Given the description of an element on the screen output the (x, y) to click on. 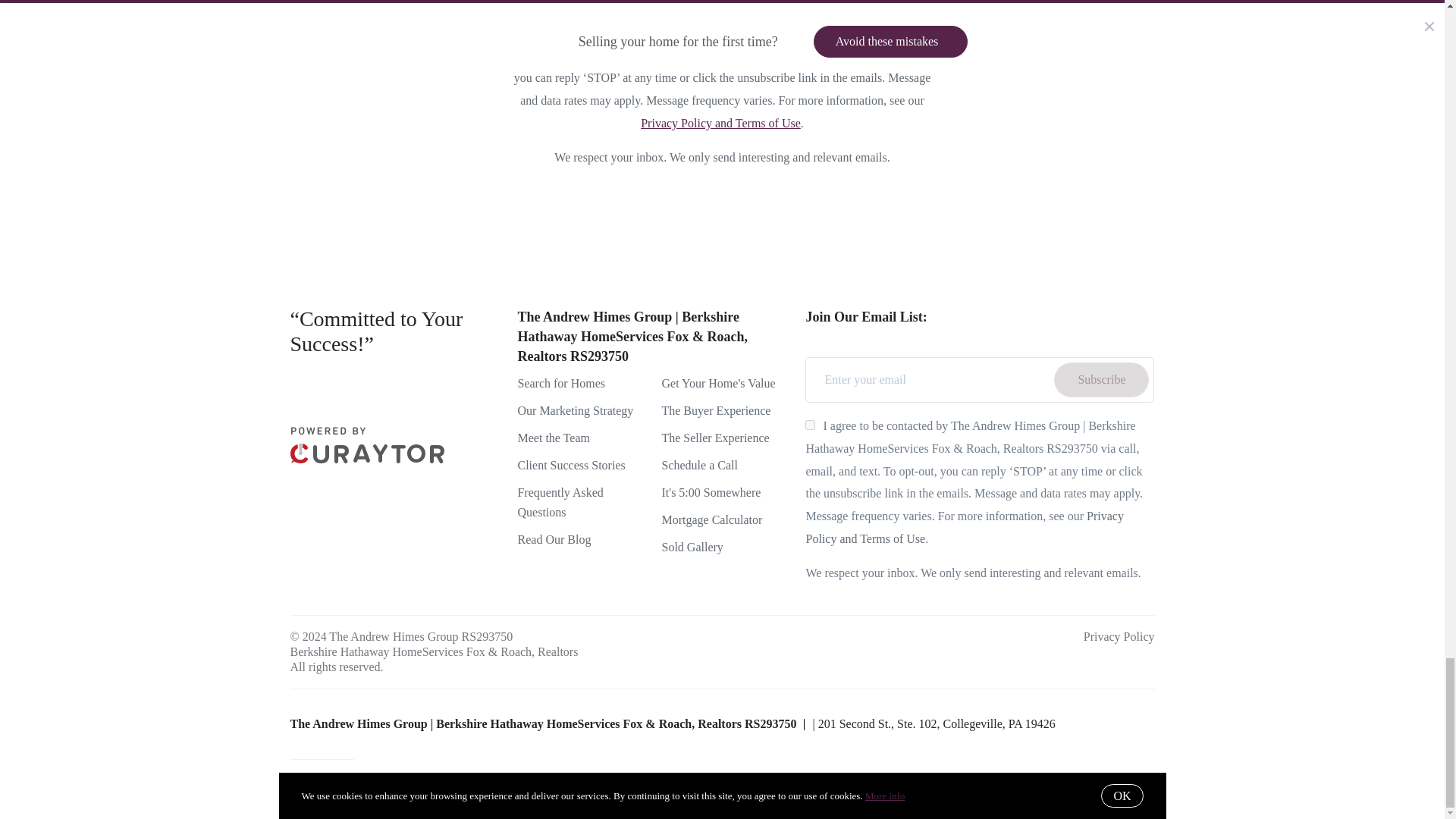
curaytor-horizontal (366, 444)
on (536, 31)
on (810, 424)
